Given the description of an element on the screen output the (x, y) to click on. 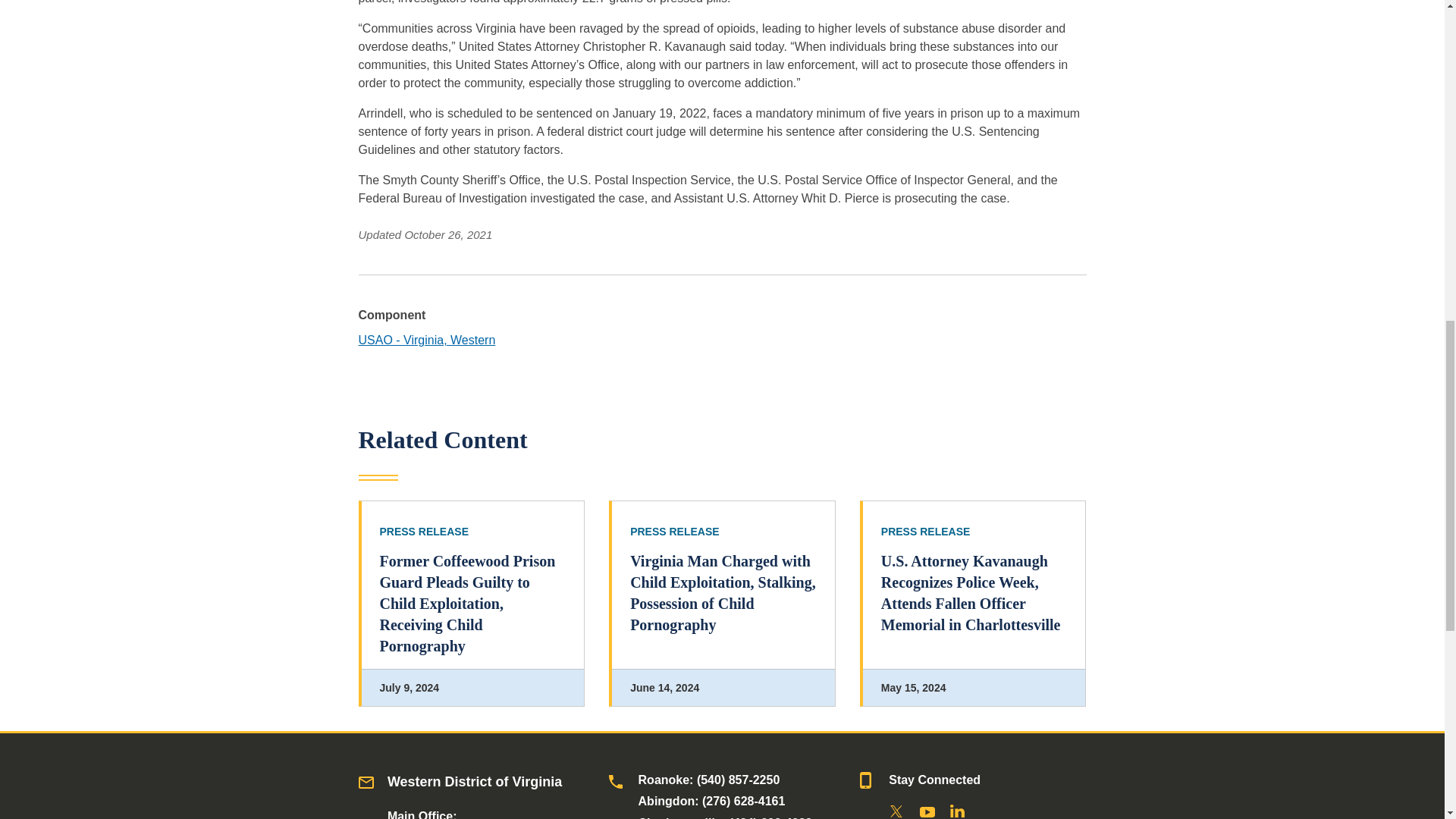
USAO - Virginia, Western (426, 339)
